Given the description of an element on the screen output the (x, y) to click on. 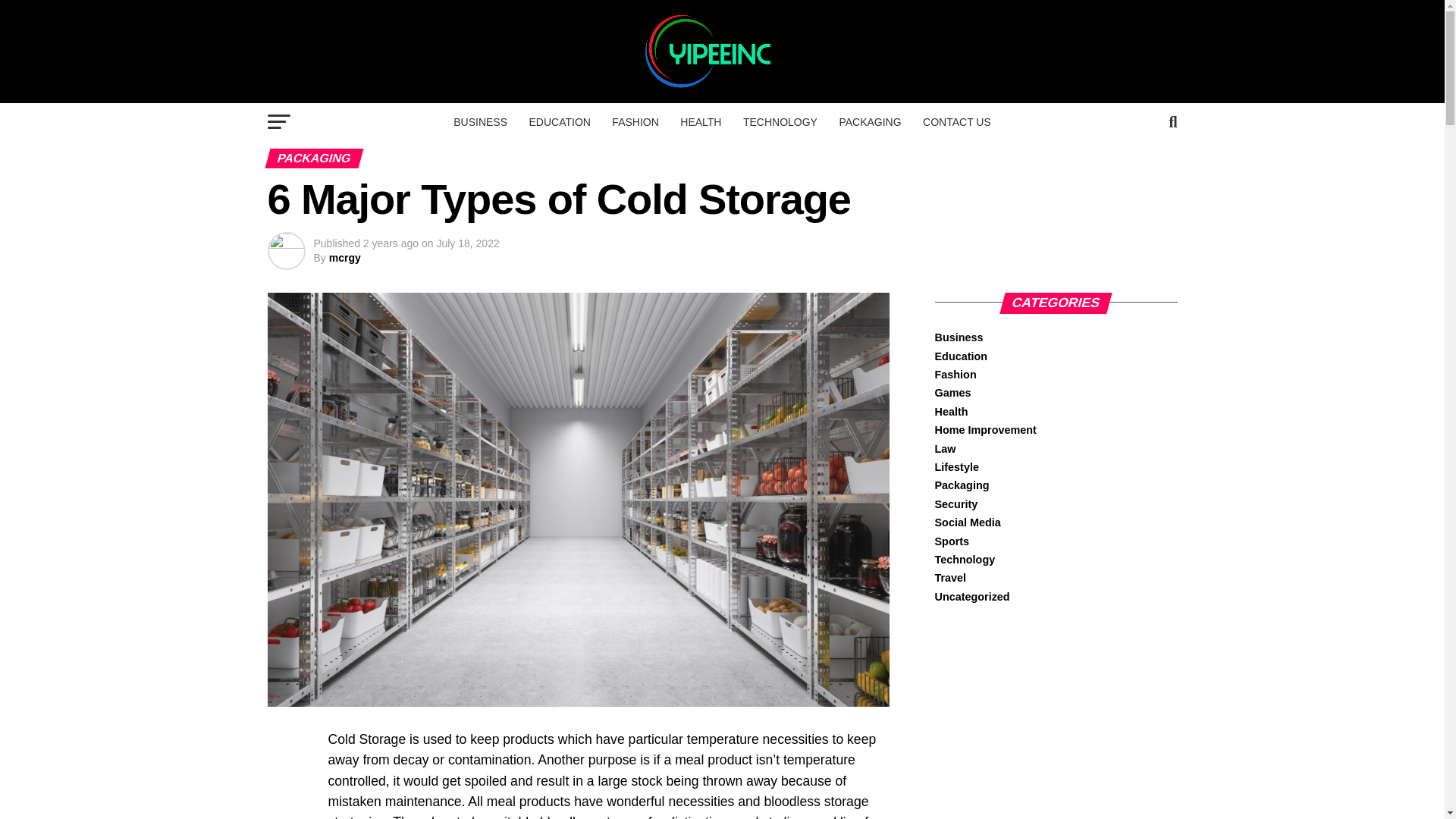
HEALTH (700, 121)
BUSINESS (480, 121)
FASHION (634, 121)
PACKAGING (869, 121)
EDUCATION (558, 121)
TECHNOLOGY (780, 121)
Posts by mcrgy (345, 257)
